Given the description of an element on the screen output the (x, y) to click on. 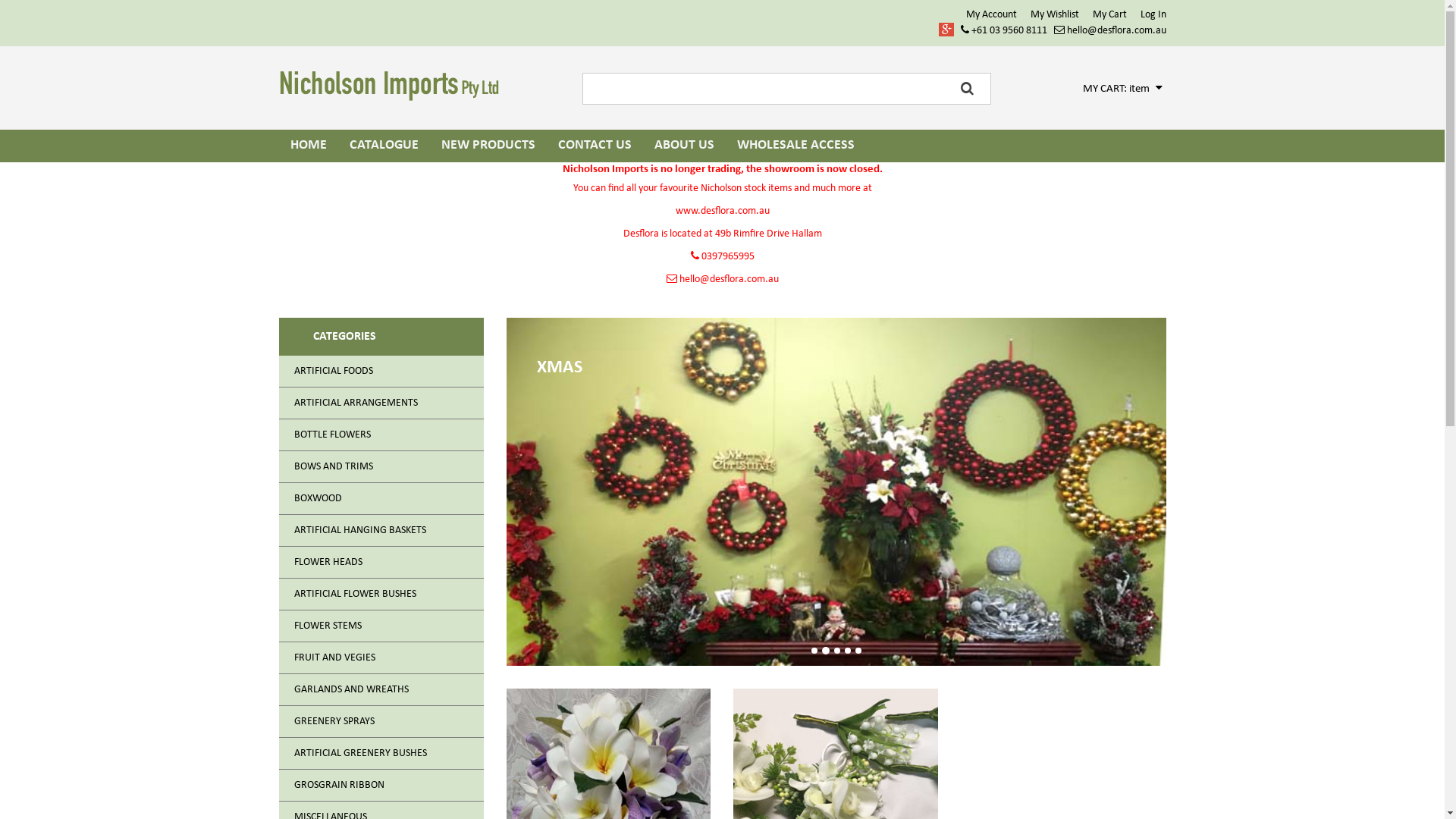
5 Element type: text (858, 650)
ARTIFICIAL FOODS Element type: text (381, 371)
CONTACT US Element type: text (594, 145)
ARTIFICIAL FLOWER BUSHES Element type: text (381, 594)
NEW PRODUCTS Element type: text (487, 145)
 hello@desflora.com.au Element type: text (721, 279)
ARTIFICIAL HANGING BASKETS Element type: text (381, 530)
 0397965995 Element type: text (721, 256)
ARTIFICIAL ARRANGEMENTS Element type: text (381, 403)
GROSGRAIN RIBBON Element type: text (381, 785)
GARLANDS AND WREATHS Element type: text (381, 690)
GREENERY SPRAYS Element type: text (381, 721)
SEARCH Element type: text (967, 88)
 +61 03 9560 8111 Element type: text (1003, 30)
FRUIT AND VEGIES Element type: text (381, 658)
WHOLESALE ACCESS Element type: text (794, 145)
BOTTLE FLOWERS Element type: text (381, 435)
FLOWER HEADS Element type: text (381, 562)
www.desflora.com.au Element type: text (721, 210)
2 Element type: text (825, 650)
FLOWER STEMS Element type: text (381, 626)
MY CART: item Element type: text (1122, 89)
CATALOGUE Element type: text (383, 145)
ABOUT US Element type: text (684, 145)
HOME Element type: text (308, 145)
 hello@desflora.com.au Element type: text (1110, 30)
My Cart Element type: text (1109, 14)
BOXWOOD Element type: text (381, 498)
Log In Element type: text (1153, 14)
ARTIFICIAL GREENERY BUSHES Element type: text (381, 753)
Nicholson Imports Pty. Ltd. Element type: hover (392, 90)
BOWS AND TRIMS Element type: text (381, 467)
4 Element type: text (847, 650)
3 Element type: text (837, 650)
My Wishlist Element type: text (1053, 14)
1 Element type: text (814, 650)
My Account Element type: text (991, 14)
